Given the description of an element on the screen output the (x, y) to click on. 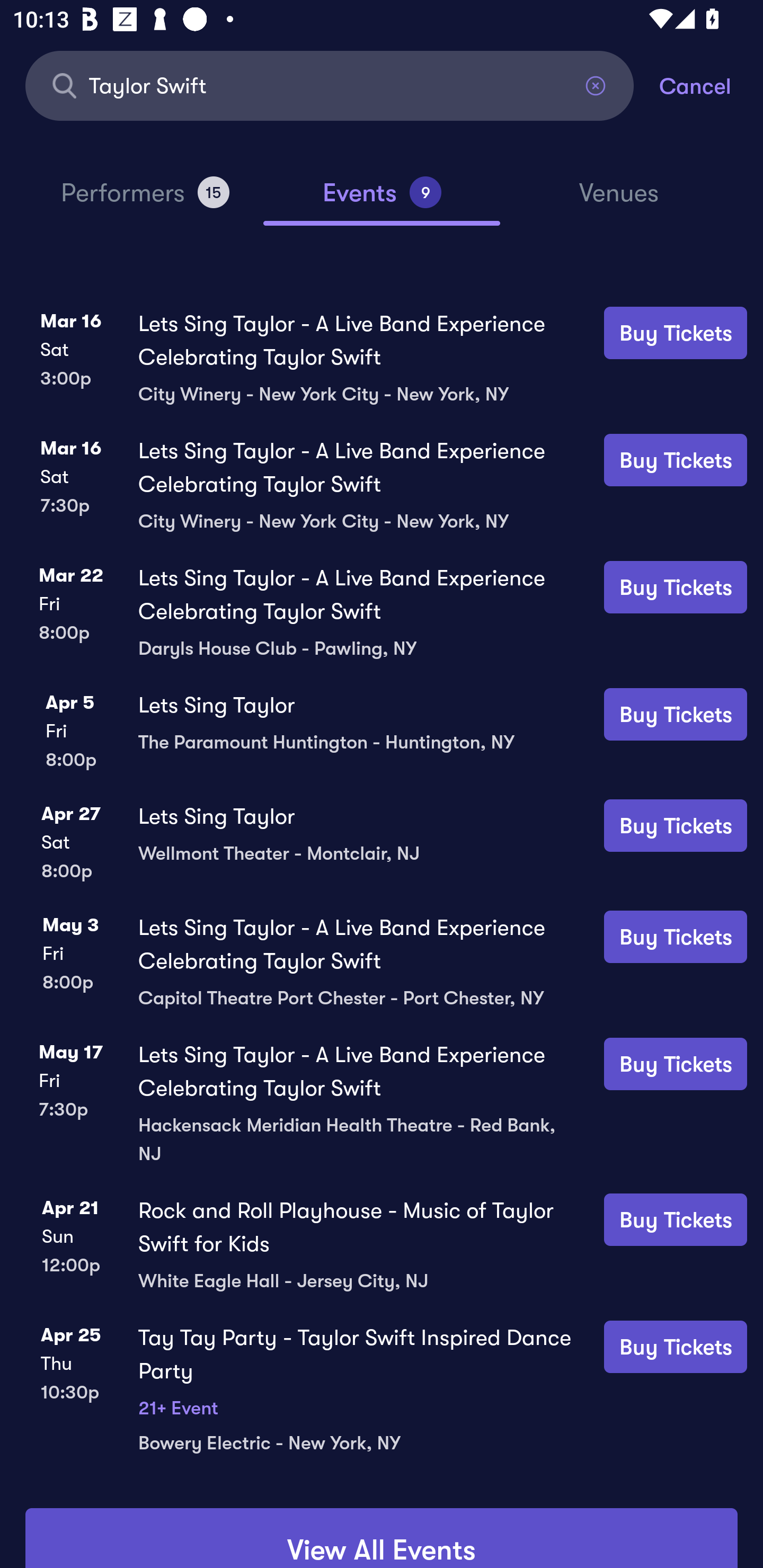
Taylor Swift Find (329, 85)
Taylor Swift Find (329, 85)
Cancel (711, 85)
Performers 15 (144, 200)
Events 9 (381, 200)
Venues (618, 201)
View All Events (381, 1538)
